Given the description of an element on the screen output the (x, y) to click on. 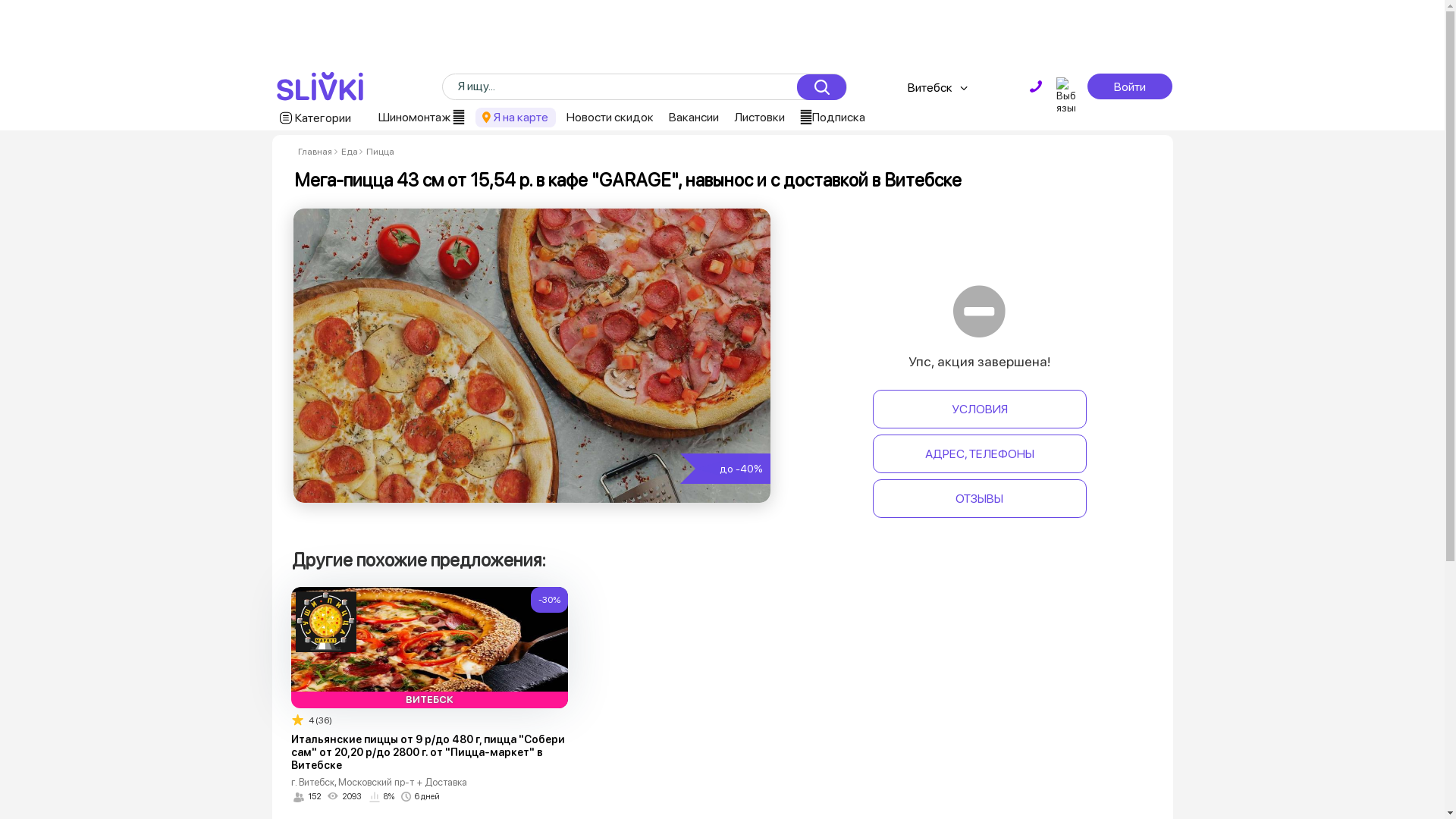
152 Element type: text (307, 796)
  Element type: text (1035, 86)
